Given the description of an element on the screen output the (x, y) to click on. 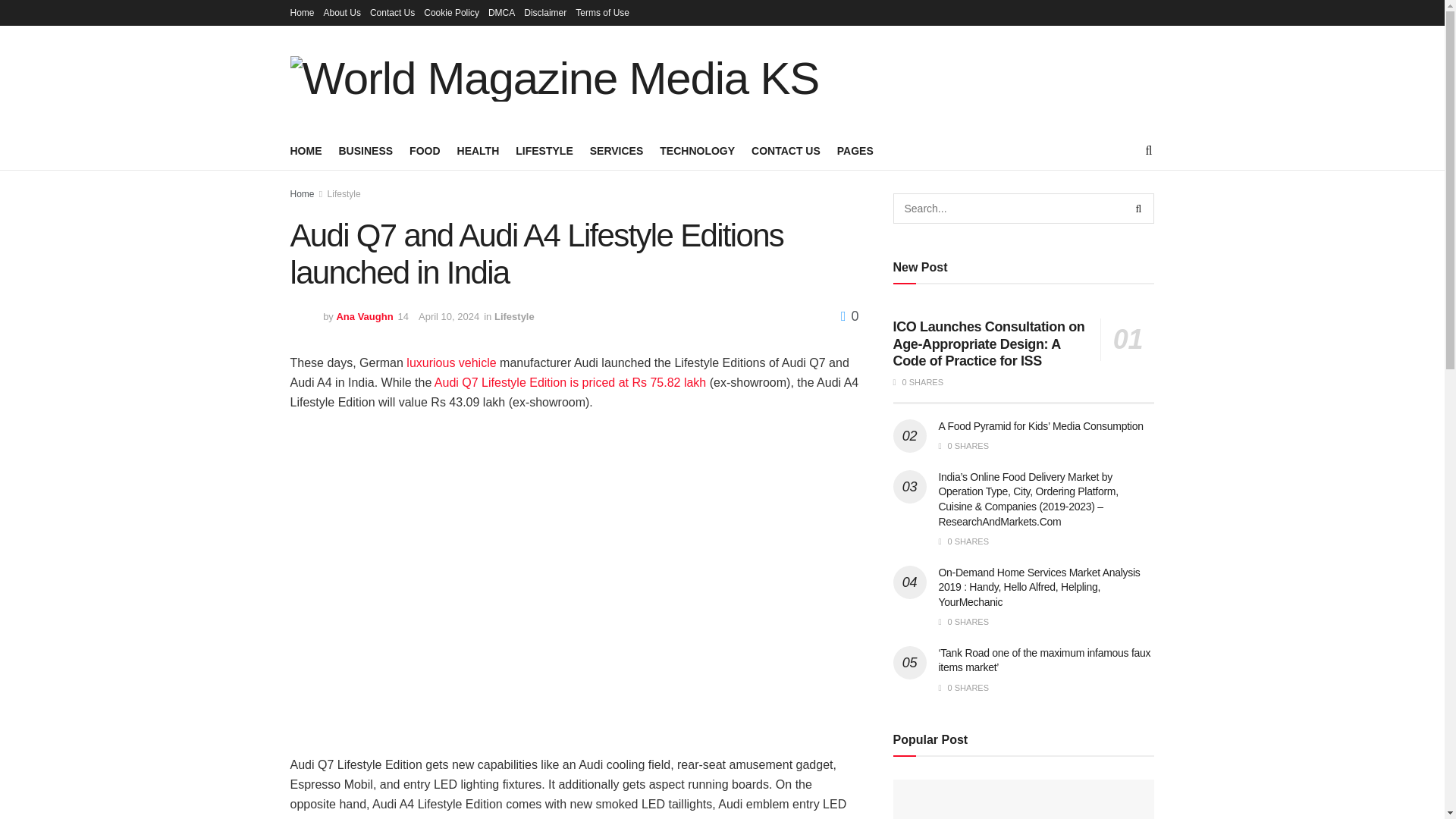
About Us (342, 12)
HEALTH (478, 150)
TECHNOLOGY (697, 150)
BUSINESS (365, 150)
FOOD (424, 150)
SERVICES (616, 150)
Contact Us (391, 12)
Terms of Use (601, 12)
LIFESTYLE (543, 150)
Disclaimer (545, 12)
Home (301, 12)
DMCA (501, 12)
Cookie Policy (451, 12)
HOME (305, 150)
